Given the description of an element on the screen output the (x, y) to click on. 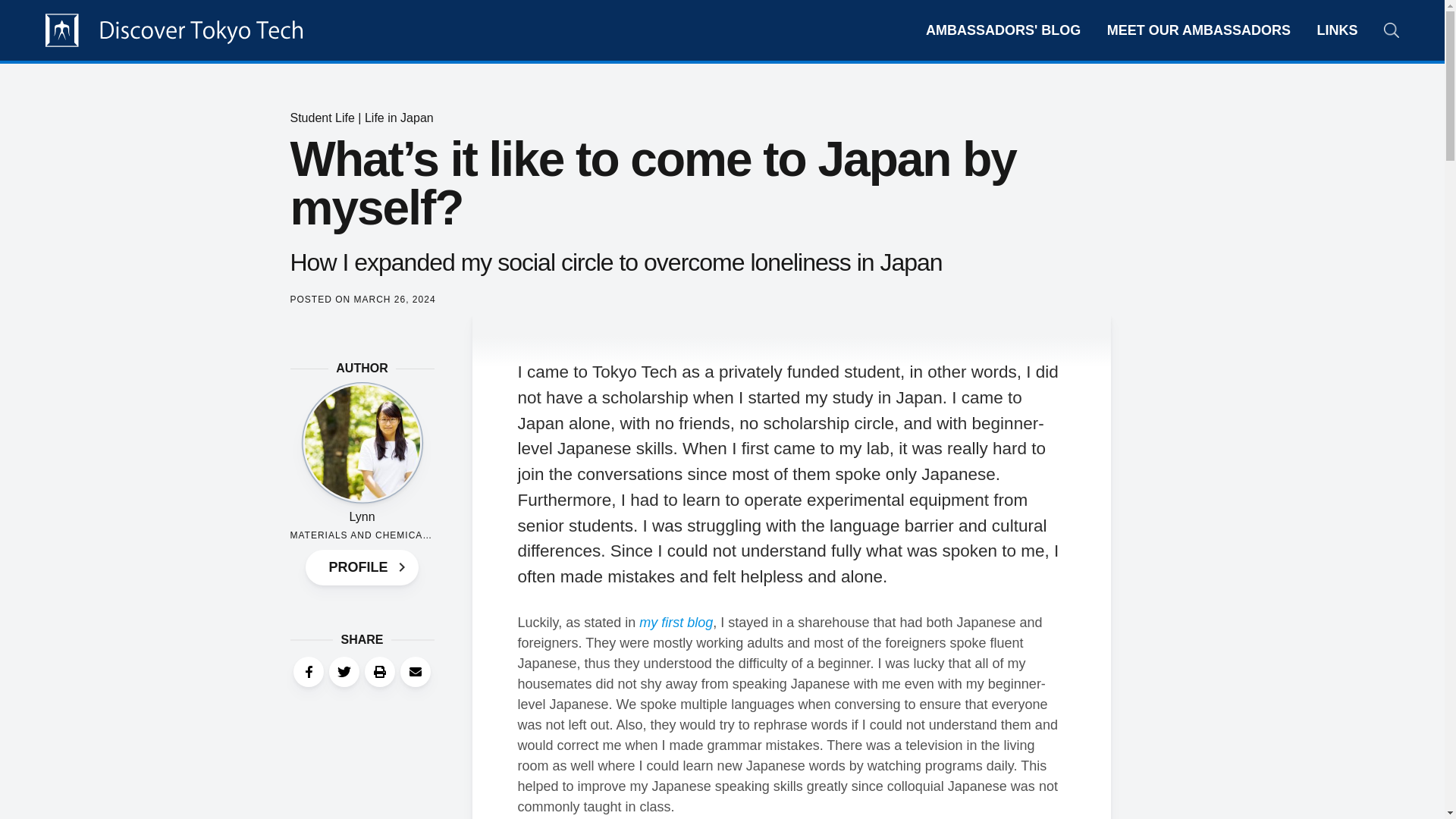
MEET OUR AMBASSADORS (1198, 29)
PROFILE (361, 566)
my first blog (676, 622)
LINKS (1337, 29)
AMBASSADORS' BLOG (1003, 29)
Lynn (361, 516)
